Given the description of an element on the screen output the (x, y) to click on. 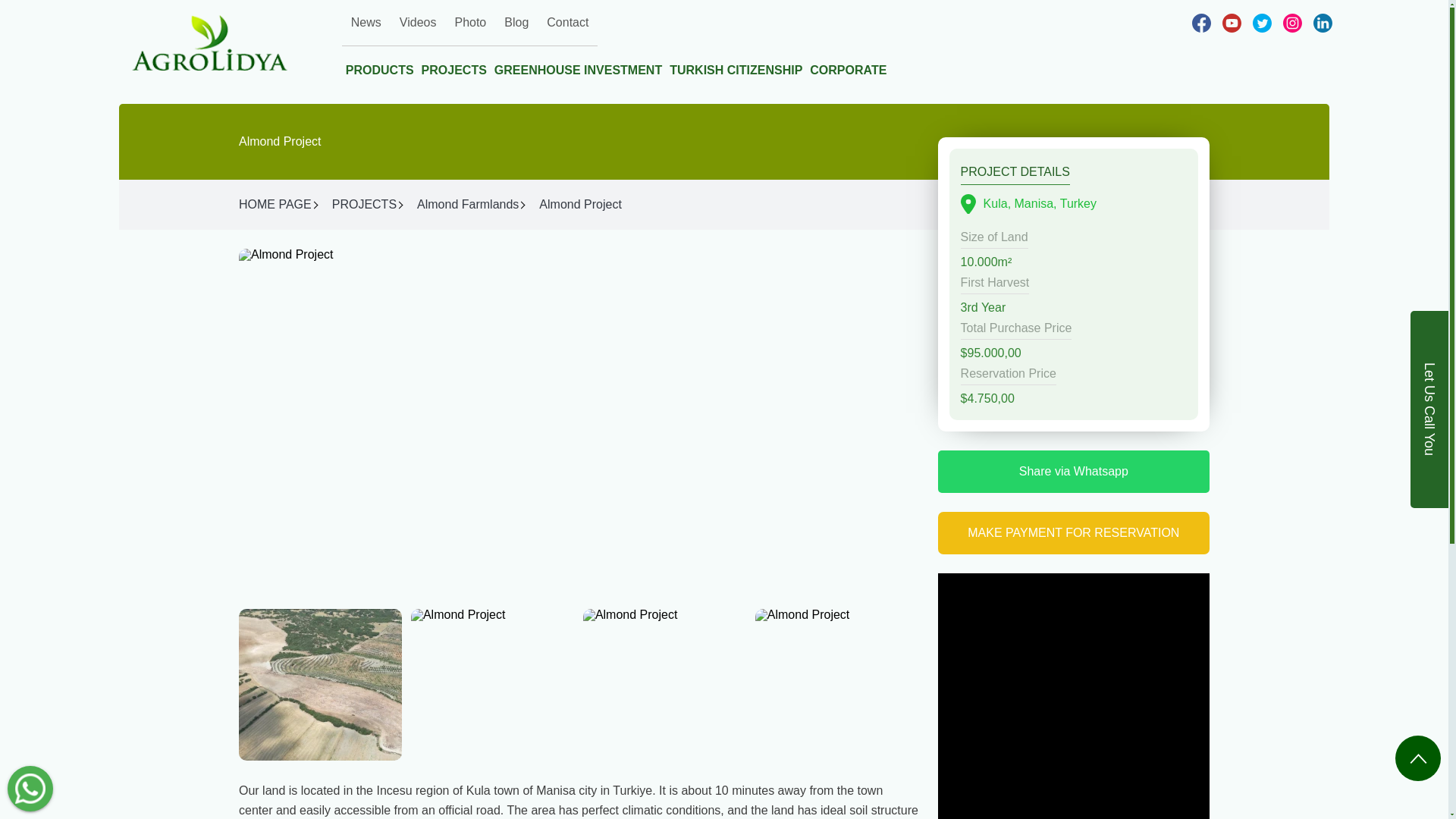
Blog (516, 22)
PRODUCTS (379, 65)
almond-project-kula-3-1.png (491, 684)
almond-project-kula-4-1.png (664, 684)
Twitter (1256, 22)
Almond Project (579, 204)
PROJECTS (363, 204)
GREENHOUSE INVESTMENT (577, 65)
Youtube (1226, 22)
Linkedin (1316, 22)
MAKE PAYMENT FOR RESERVATION (1073, 532)
TURKISH CITIZENSHIP (735, 65)
Videos (417, 22)
MAKE PAYMENT FOR RESERVATION (1073, 532)
CORPORATE (847, 65)
